Given the description of an element on the screen output the (x, y) to click on. 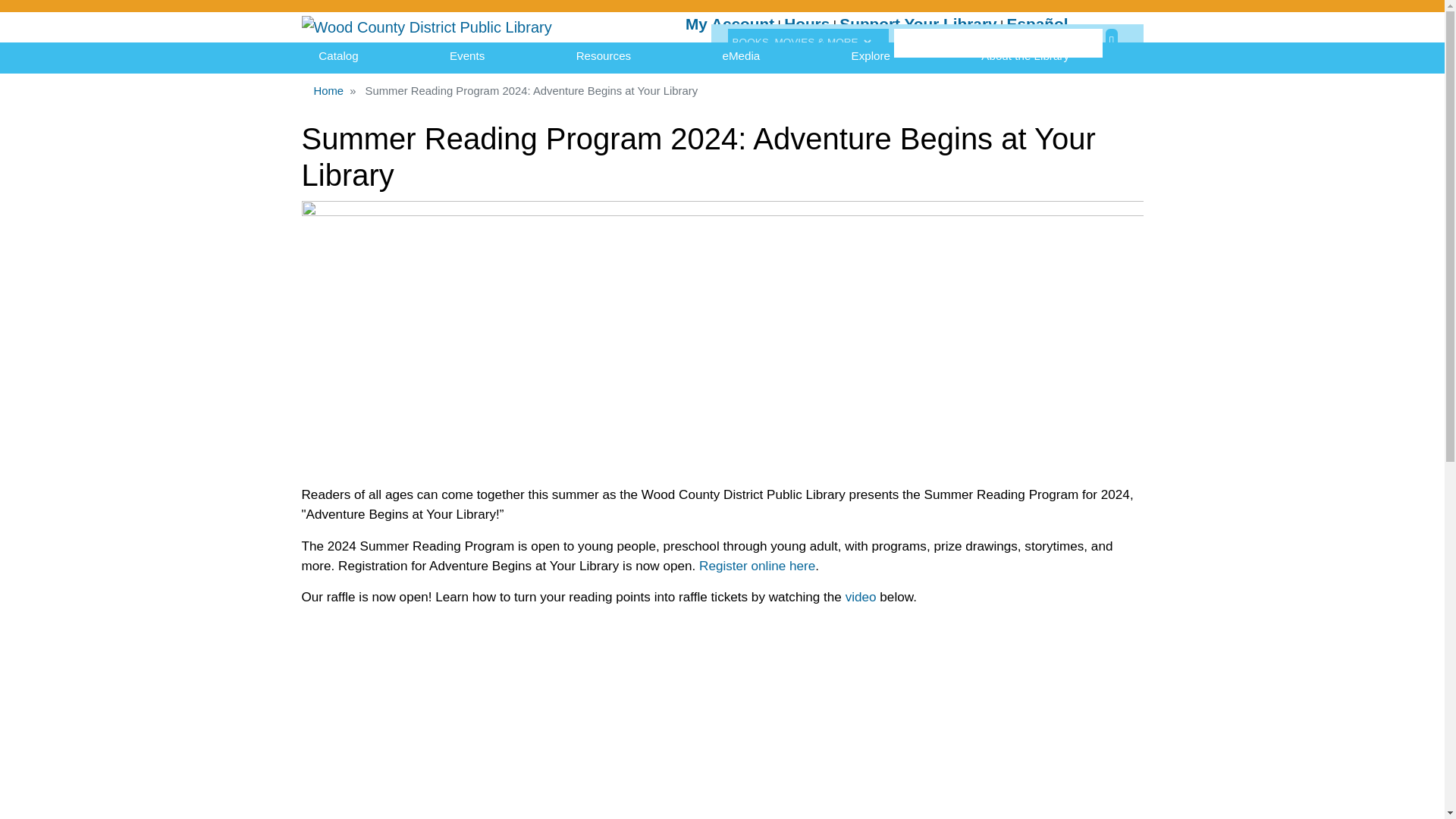
Support Your Library (917, 23)
My Account (729, 23)
Explore (870, 55)
Catalog (338, 55)
eMedia (740, 55)
Skip to main content (721, 1)
Home (426, 27)
Hours (806, 23)
Events (467, 55)
Resources (603, 55)
